Given the description of an element on the screen output the (x, y) to click on. 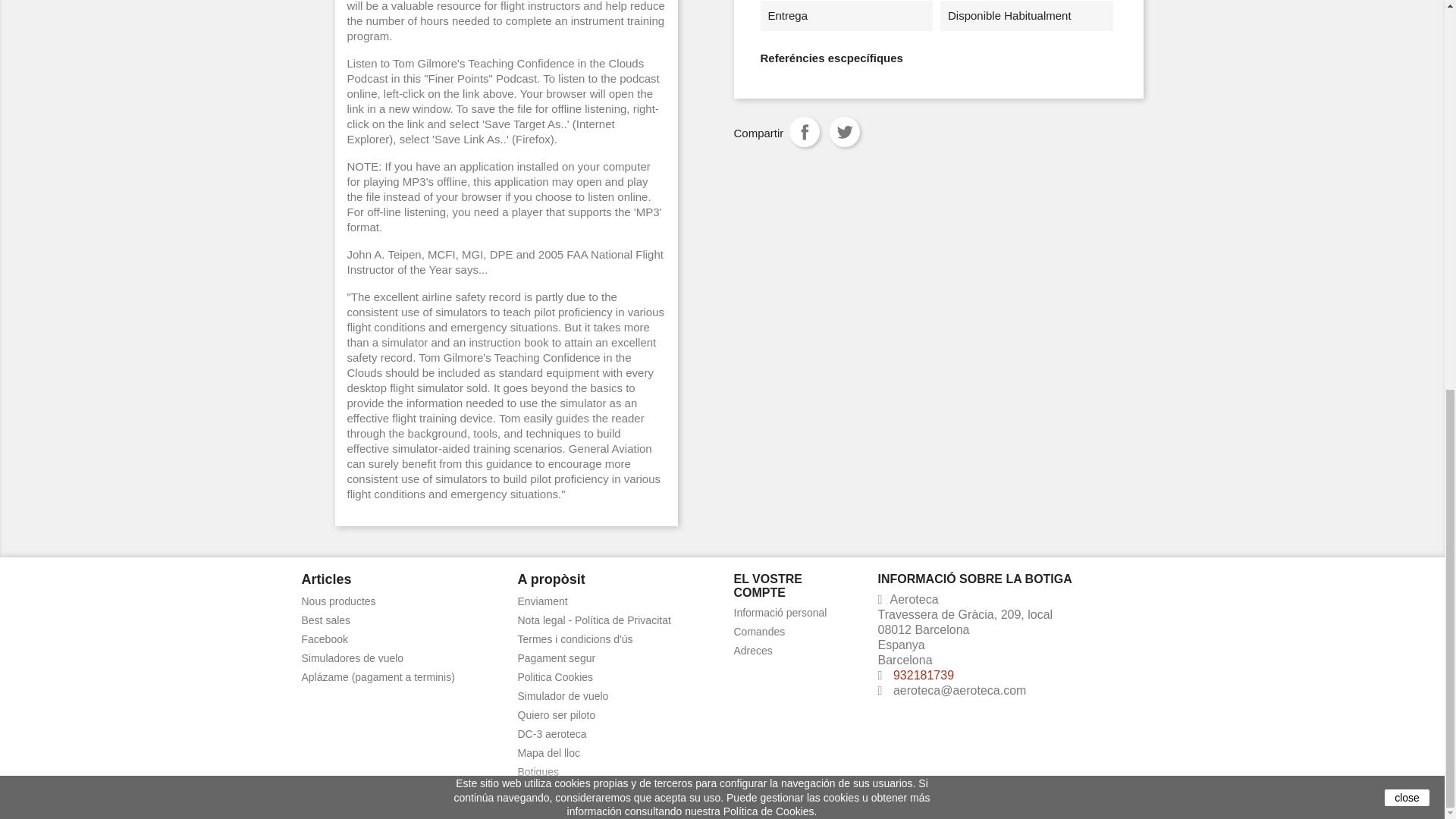
Compartir (804, 132)
Tuit (844, 132)
Our best sales (325, 620)
Pagament segur (555, 657)
Nota legal (592, 620)
Our new products (338, 601)
Condicions d'enviaments (541, 601)
